Given the description of an element on the screen output the (x, y) to click on. 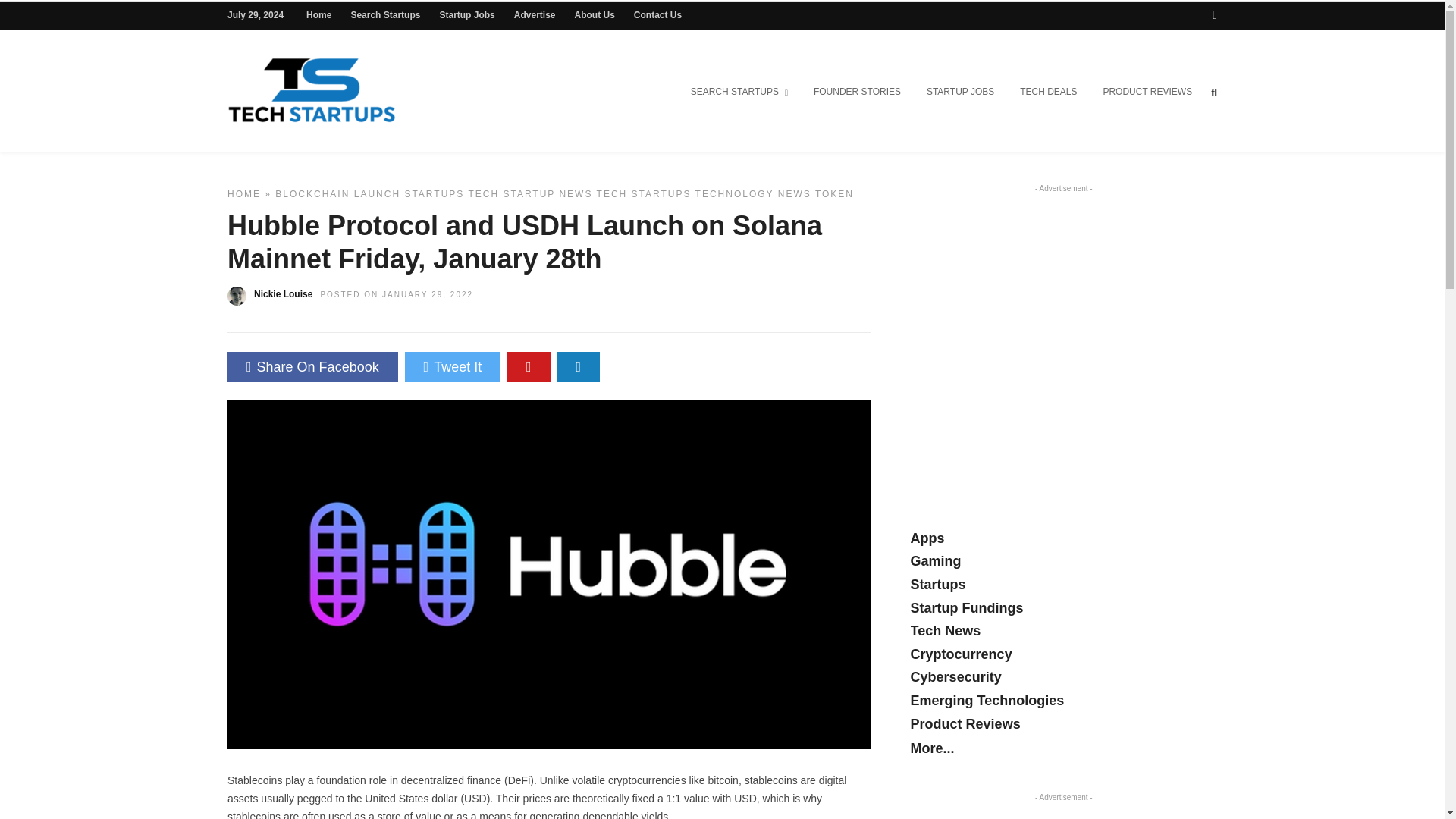
Contact Us (657, 14)
Tweet It (452, 367)
Advertisement (1064, 815)
Search Startups (385, 14)
Advertisement (1038, 308)
TECHNOLOGY NEWS (752, 194)
HOME (243, 194)
TECH STARTUP NEWS (529, 194)
Share On Facebook (312, 367)
PRODUCT REVIEWS (1147, 92)
Home (318, 14)
Advertise (534, 14)
SEARCH STARTUPS (739, 92)
Startup Jobs (467, 14)
BLOCKCHAIN (312, 194)
